Given the description of an element on the screen output the (x, y) to click on. 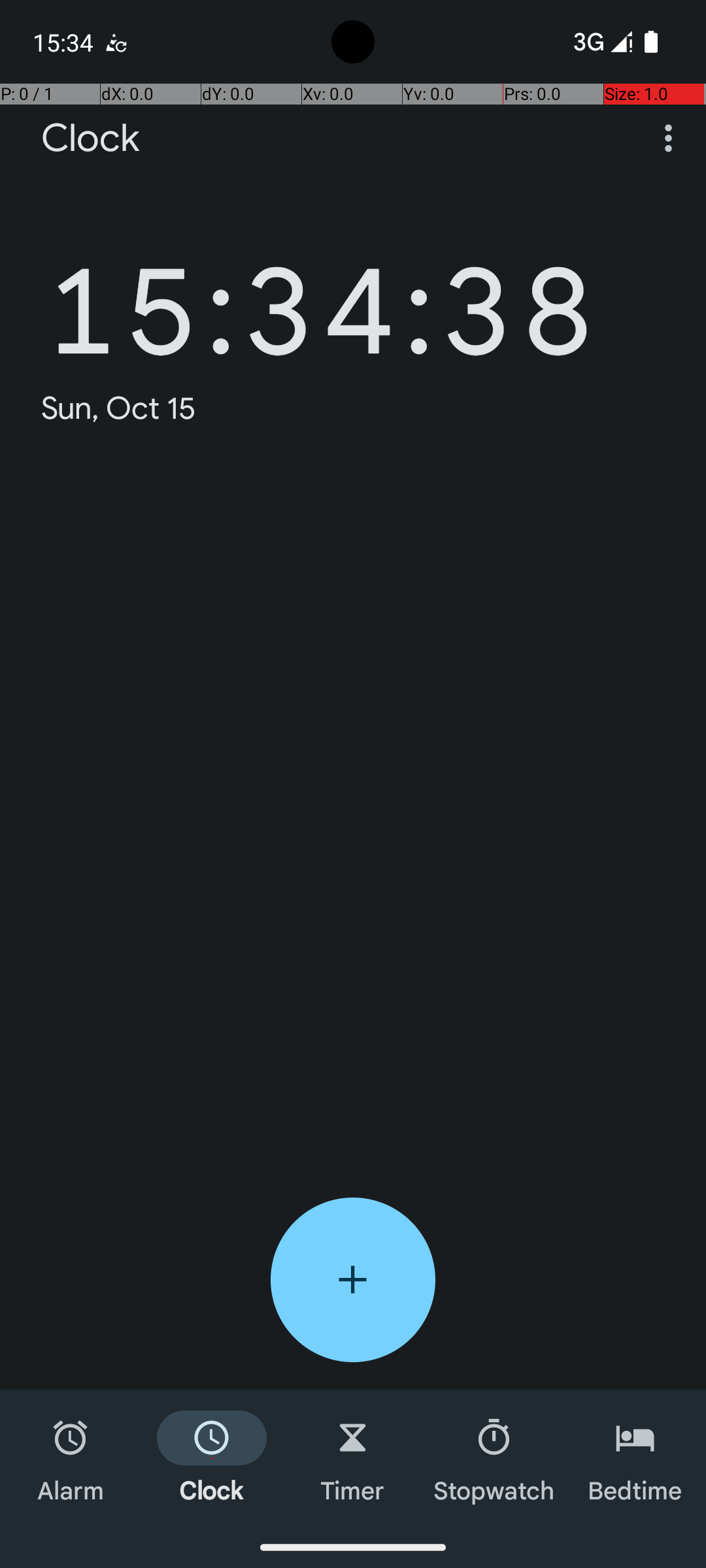
15:34:38 Element type: android.widget.TextView (319, 290)
